Given the description of an element on the screen output the (x, y) to click on. 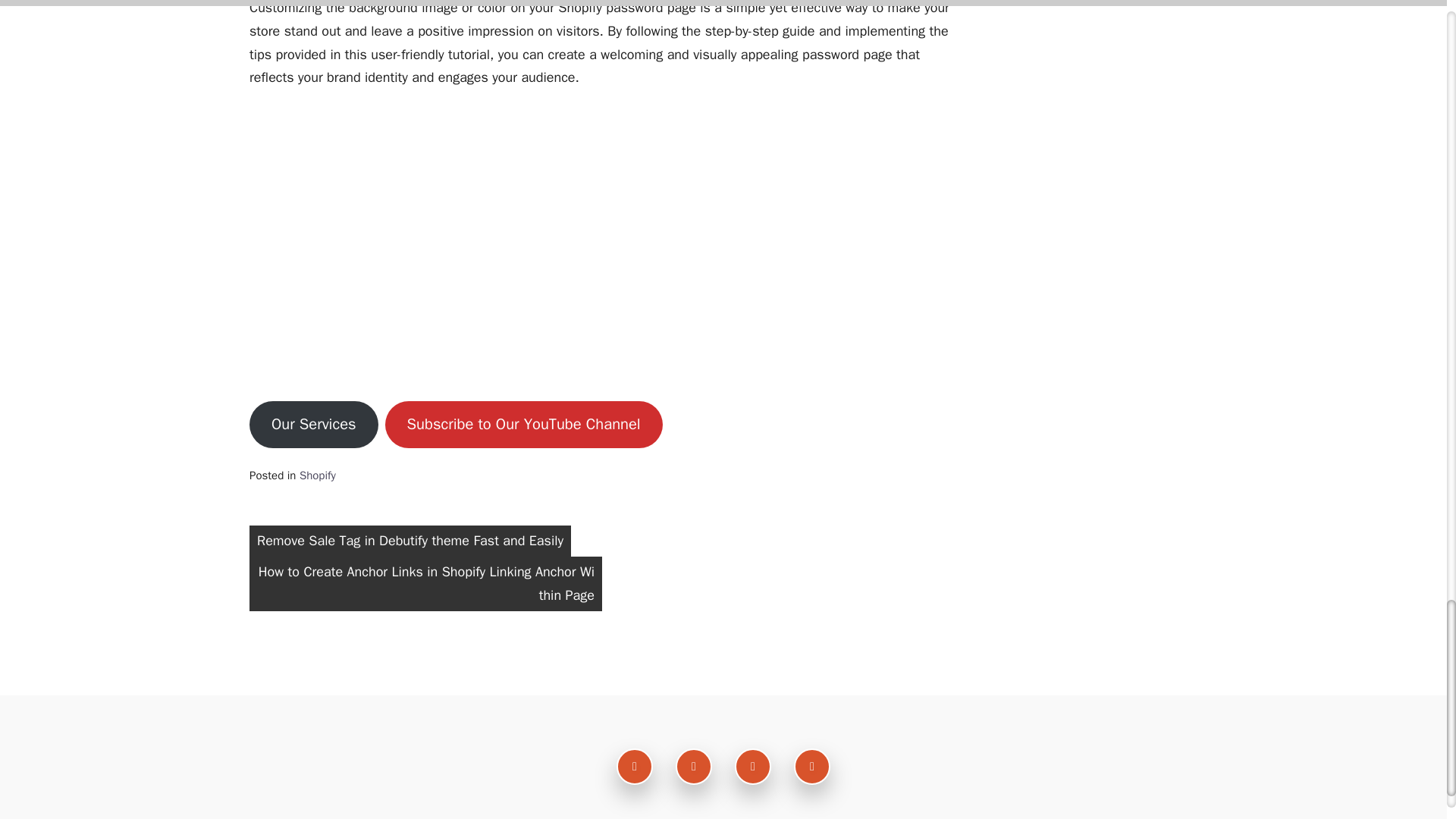
Subscribe to Our YouTube Channel (523, 424)
Shopify (317, 475)
Remove Sale Tag in Debutify theme Fast and Easily (409, 540)
Our Services (313, 424)
